Given the description of an element on the screen output the (x, y) to click on. 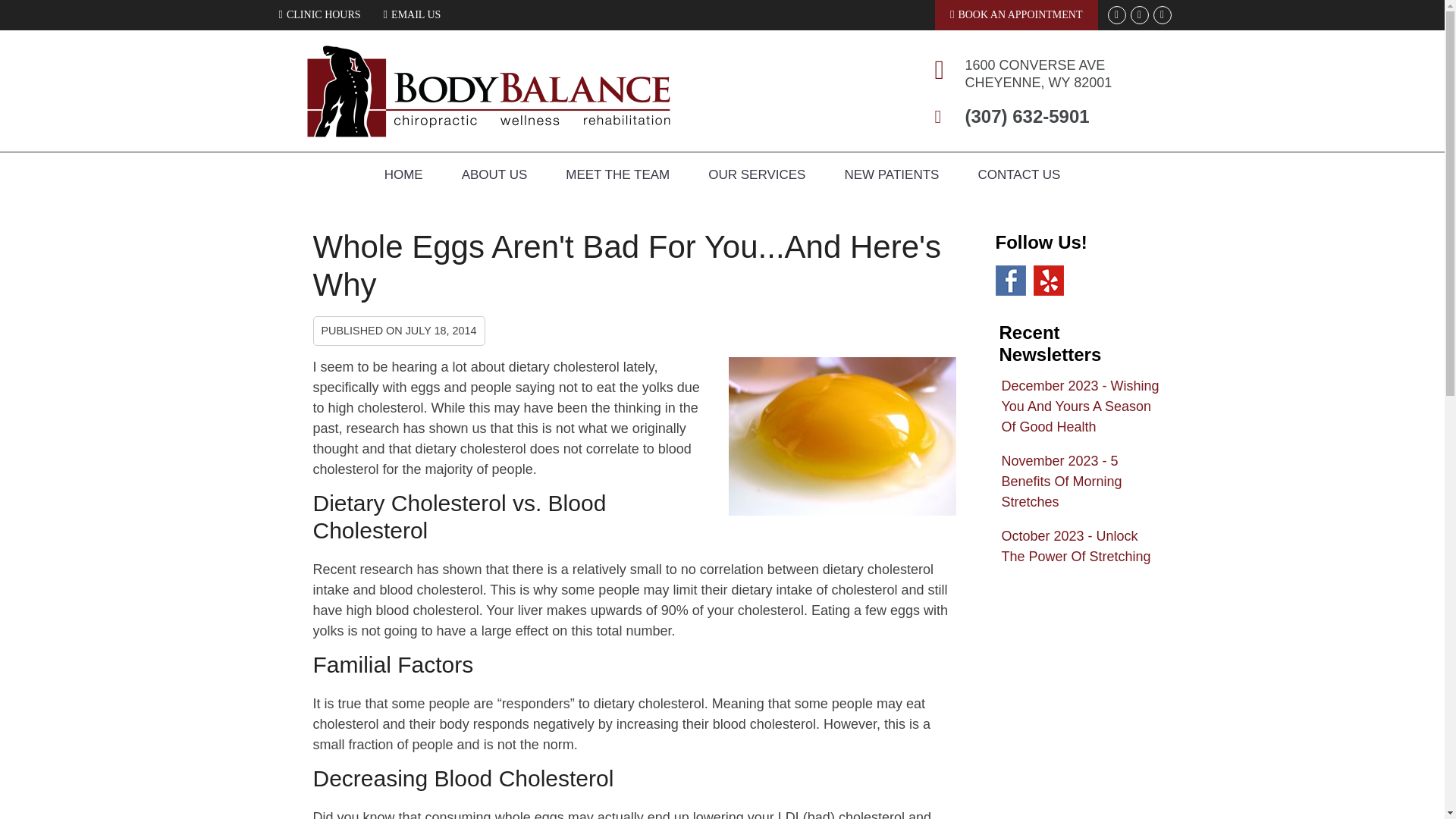
NEW PATIENTS (891, 175)
CLINIC HOURS (319, 14)
CONTACT US (1018, 175)
Contact (411, 14)
Welcome to BodyBalance (488, 132)
HOME (403, 175)
Facebook Social Button (1138, 14)
BodyBalance (488, 132)
ABOUT US (494, 175)
MEET THE TEAM (617, 175)
